Given the description of an element on the screen output the (x, y) to click on. 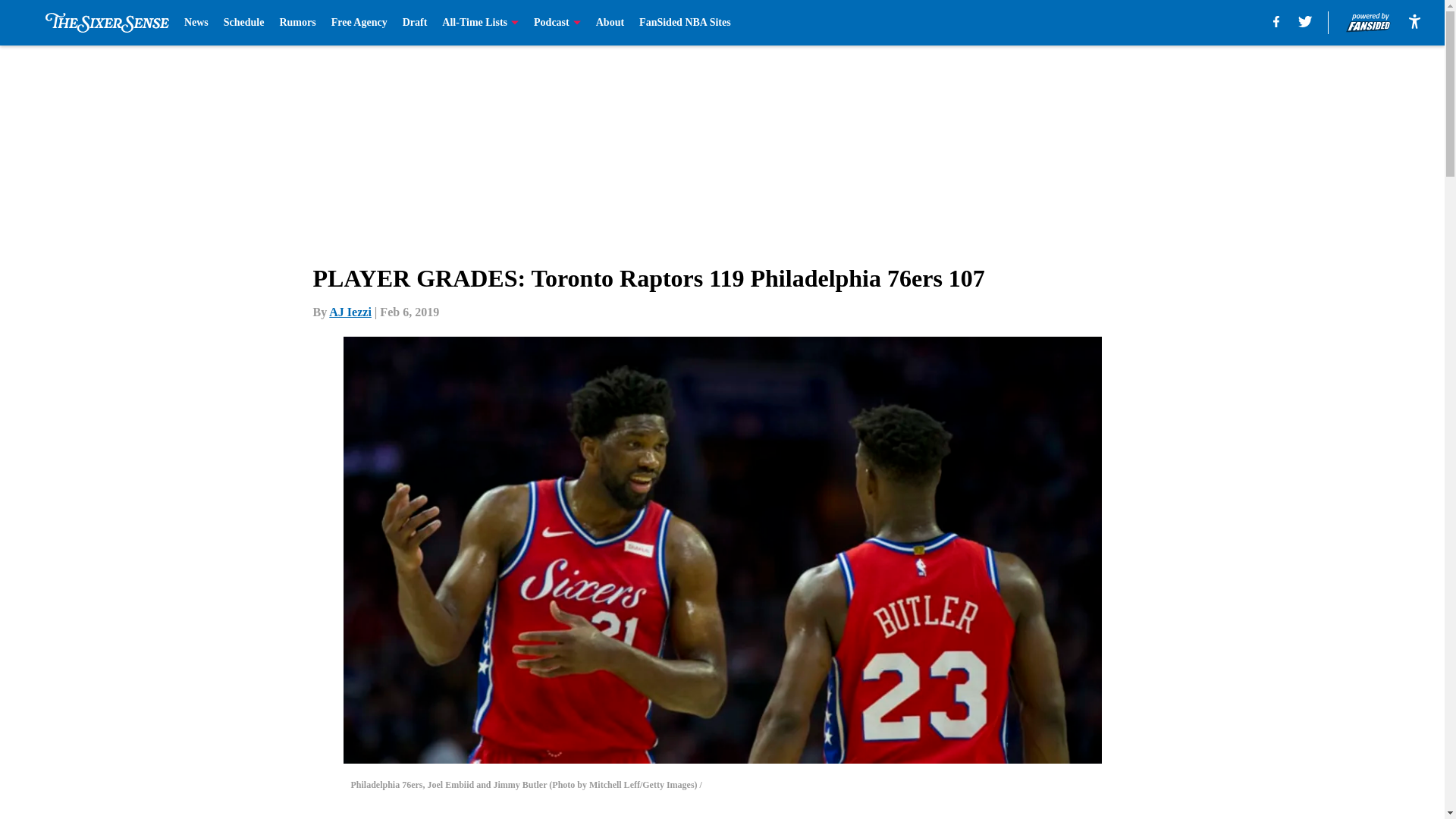
Draft (415, 22)
Free Agency (359, 22)
All-Time Lists (480, 22)
Rumors (297, 22)
AJ Iezzi (350, 311)
About (609, 22)
News (196, 22)
Schedule (244, 22)
FanSided NBA Sites (684, 22)
